Given the description of an element on the screen output the (x, y) to click on. 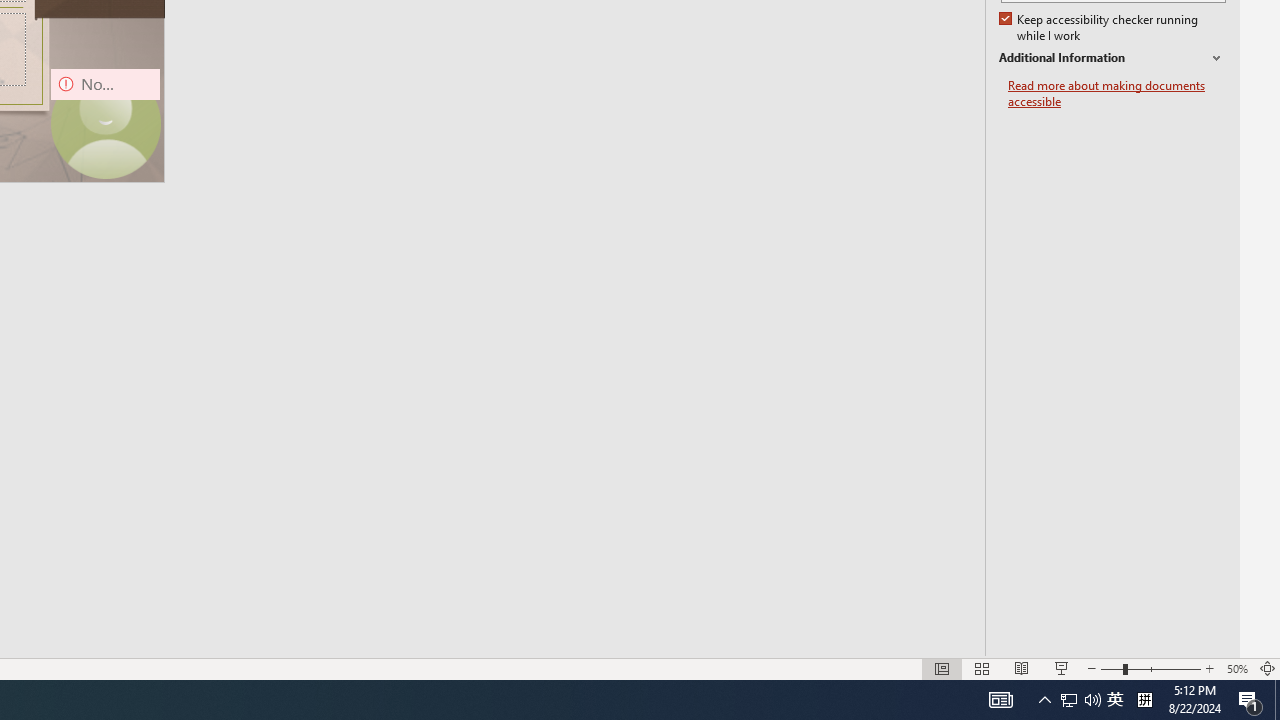
Zoom (1150, 668)
Normal (941, 668)
Slide Sorter (982, 668)
Keep accessibility checker running while I work (1099, 28)
Zoom to Fit  (1267, 668)
Read more about making documents accessible (1117, 93)
Zoom 50% (1236, 668)
Zoom In (1209, 668)
Camera 9, No camera detected. (105, 123)
Reading View (1021, 668)
Additional Information (1112, 57)
Zoom Out (1111, 668)
